Given the description of an element on the screen output the (x, y) to click on. 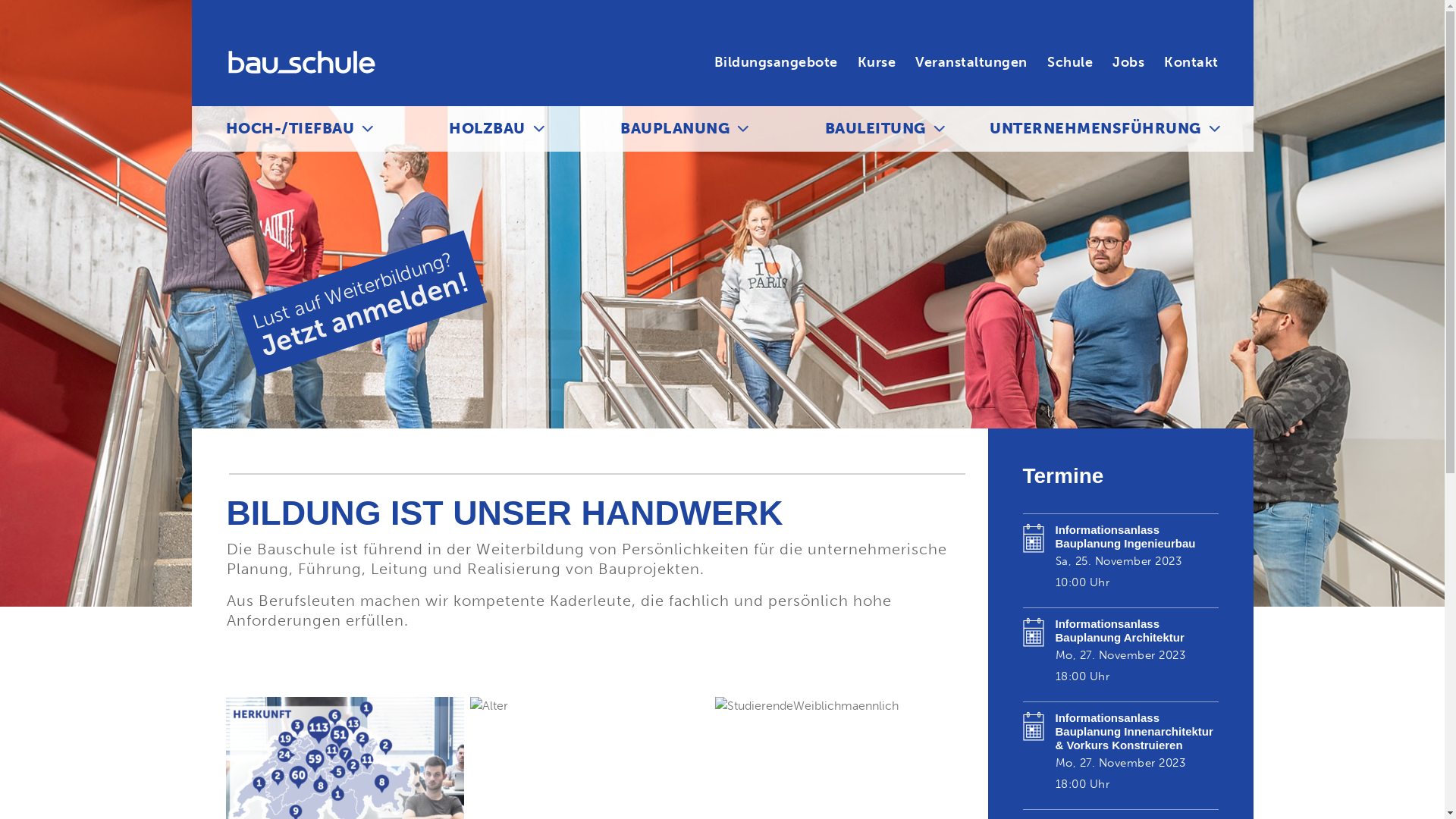
Schule Element type: text (1069, 62)
Kontakt Element type: text (1191, 62)
HOCH-/TIEFBAU Element type: text (289, 128)
Jobs Element type: text (1128, 62)
Kurse Element type: text (876, 62)
HOLZBAU Element type: text (486, 128)
Bildungsangebote Element type: text (775, 62)
Veranstaltungen Element type: text (971, 62)
BAUPLANUNG Element type: text (674, 128)
Lust auf Weiterbildung?
Jetzt anmelden! Element type: text (355, 268)
BAULEITUNG Element type: text (875, 128)
